Given the description of an element on the screen output the (x, y) to click on. 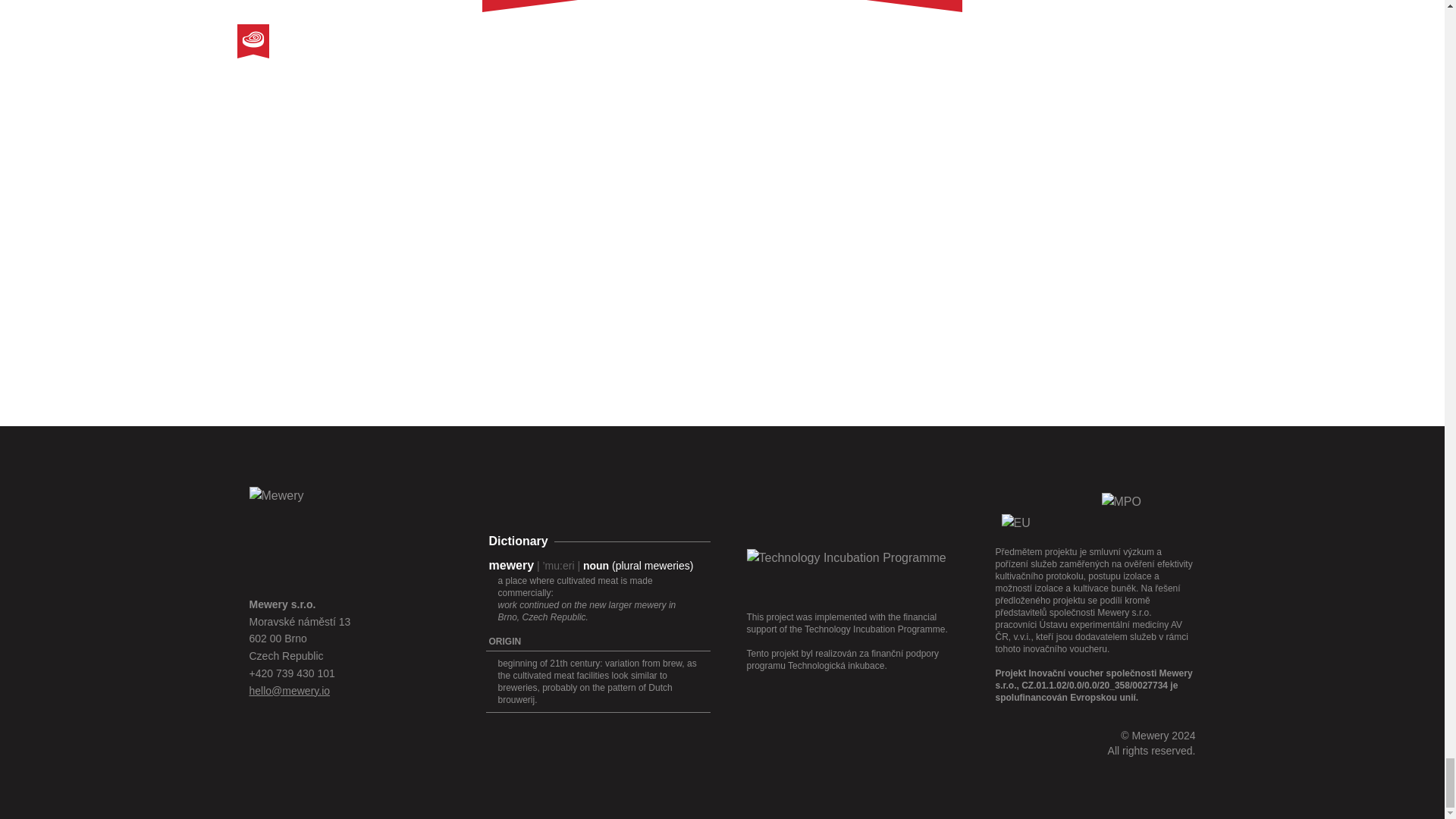
Contact us (289, 690)
Call us (291, 673)
